Given the description of an element on the screen output the (x, y) to click on. 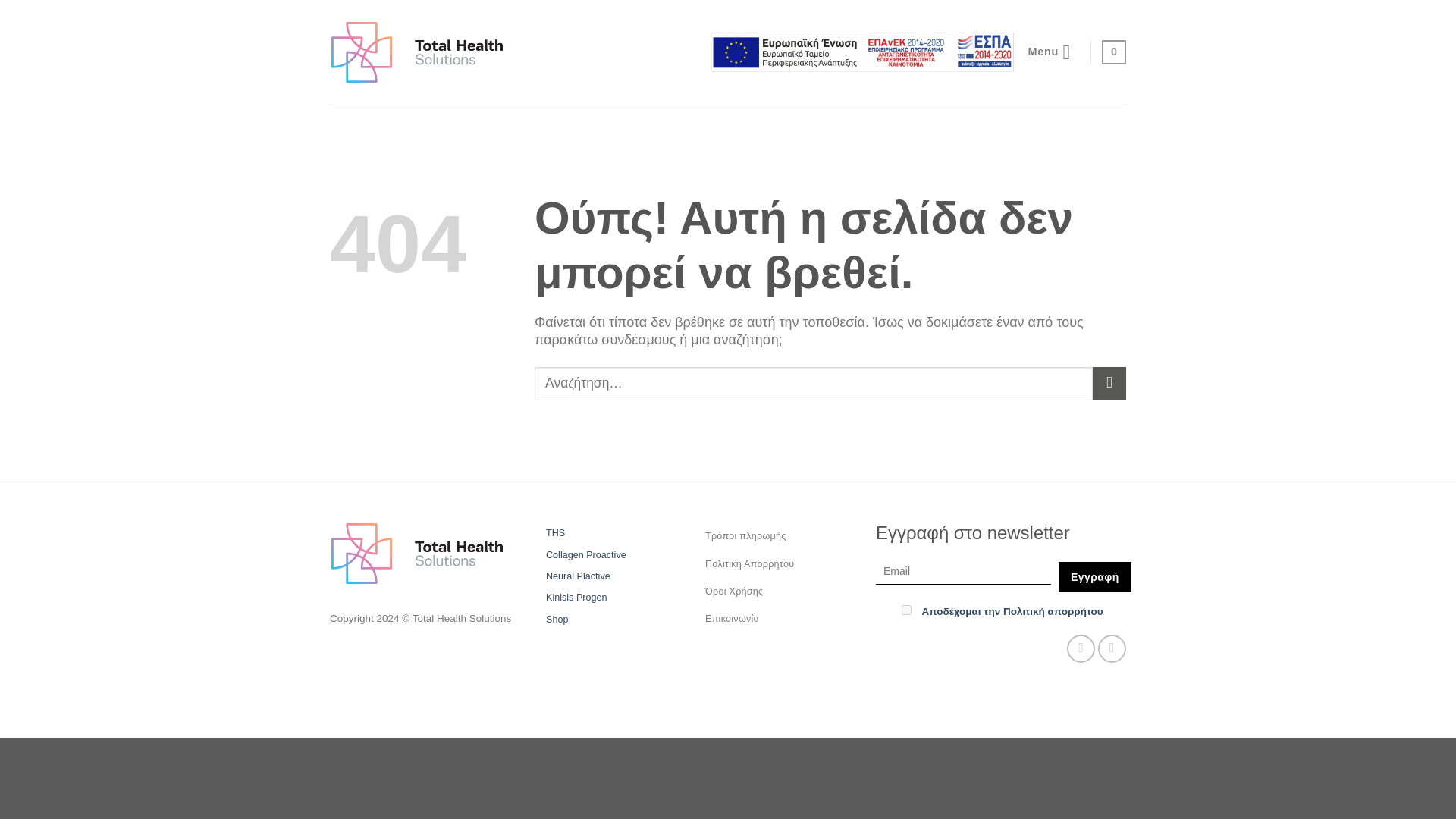
Follow on YouTube (1111, 648)
THS (555, 532)
Menu (1052, 52)
Total Health Solutions (416, 51)
Follow on Facebook (1080, 648)
Shop (556, 619)
Neural Plactive (578, 576)
Collagen Proactive (586, 554)
on (906, 610)
Kinisis Progen (576, 597)
